Given the description of an element on the screen output the (x, y) to click on. 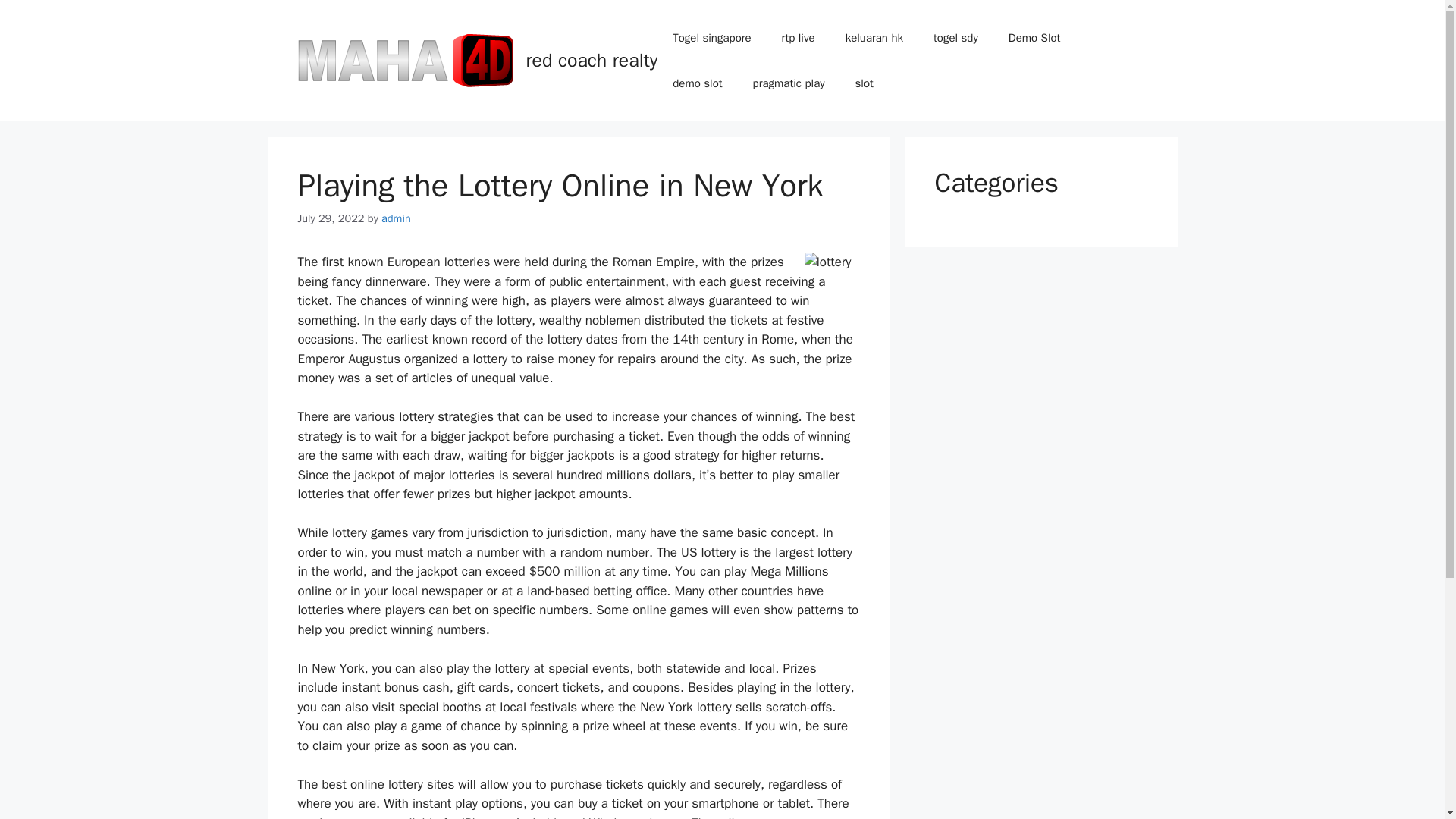
admin (395, 218)
keluaran hk (873, 37)
togel sdy (955, 37)
demo slot (697, 83)
View all posts by admin (395, 218)
Togel singapore (711, 37)
Demo Slot (1033, 37)
slot (864, 83)
rtp live (798, 37)
pragmatic play (789, 83)
